Given the description of an element on the screen output the (x, y) to click on. 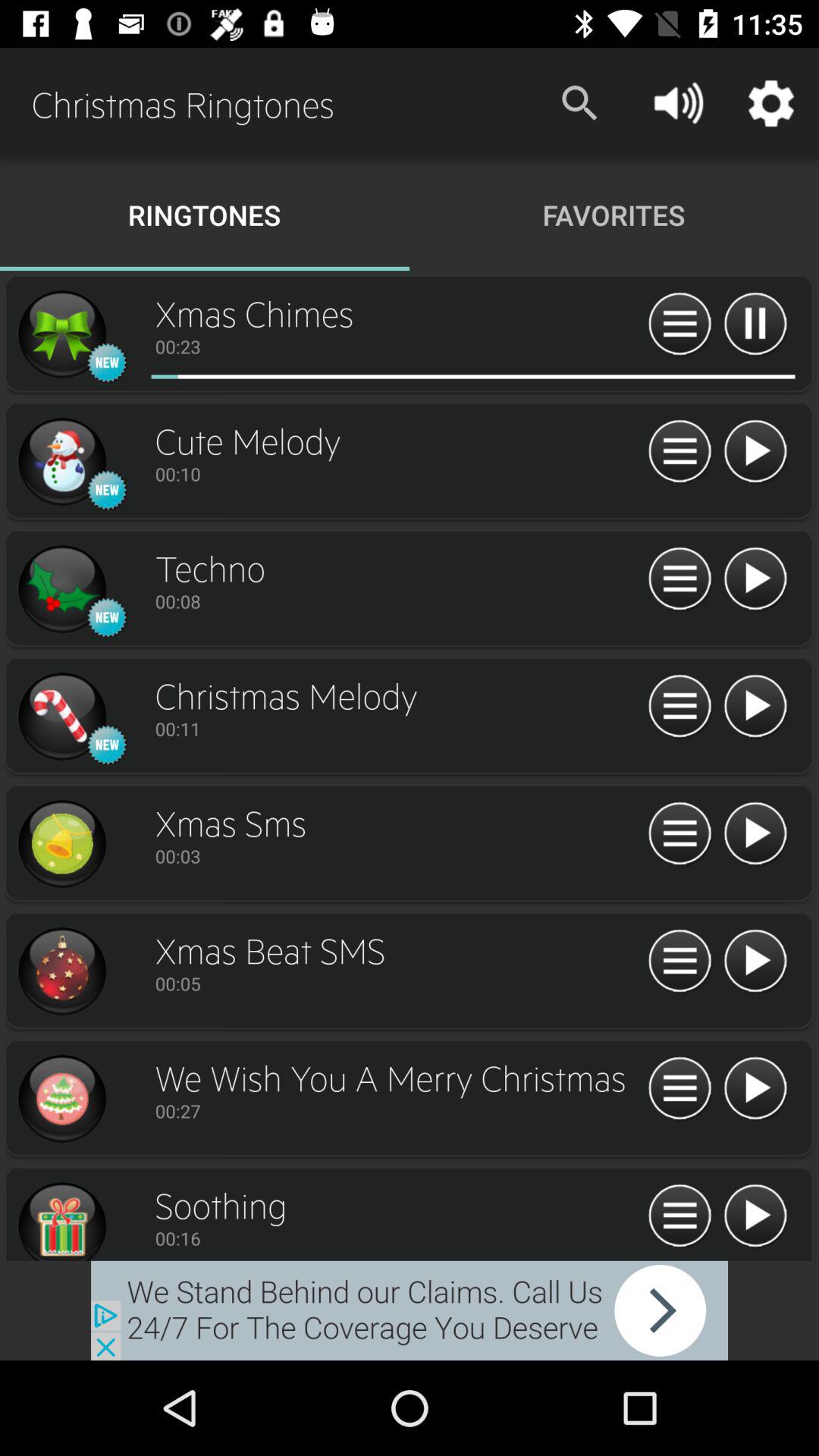
go to customize (679, 1216)
